Given the description of an element on the screen output the (x, y) to click on. 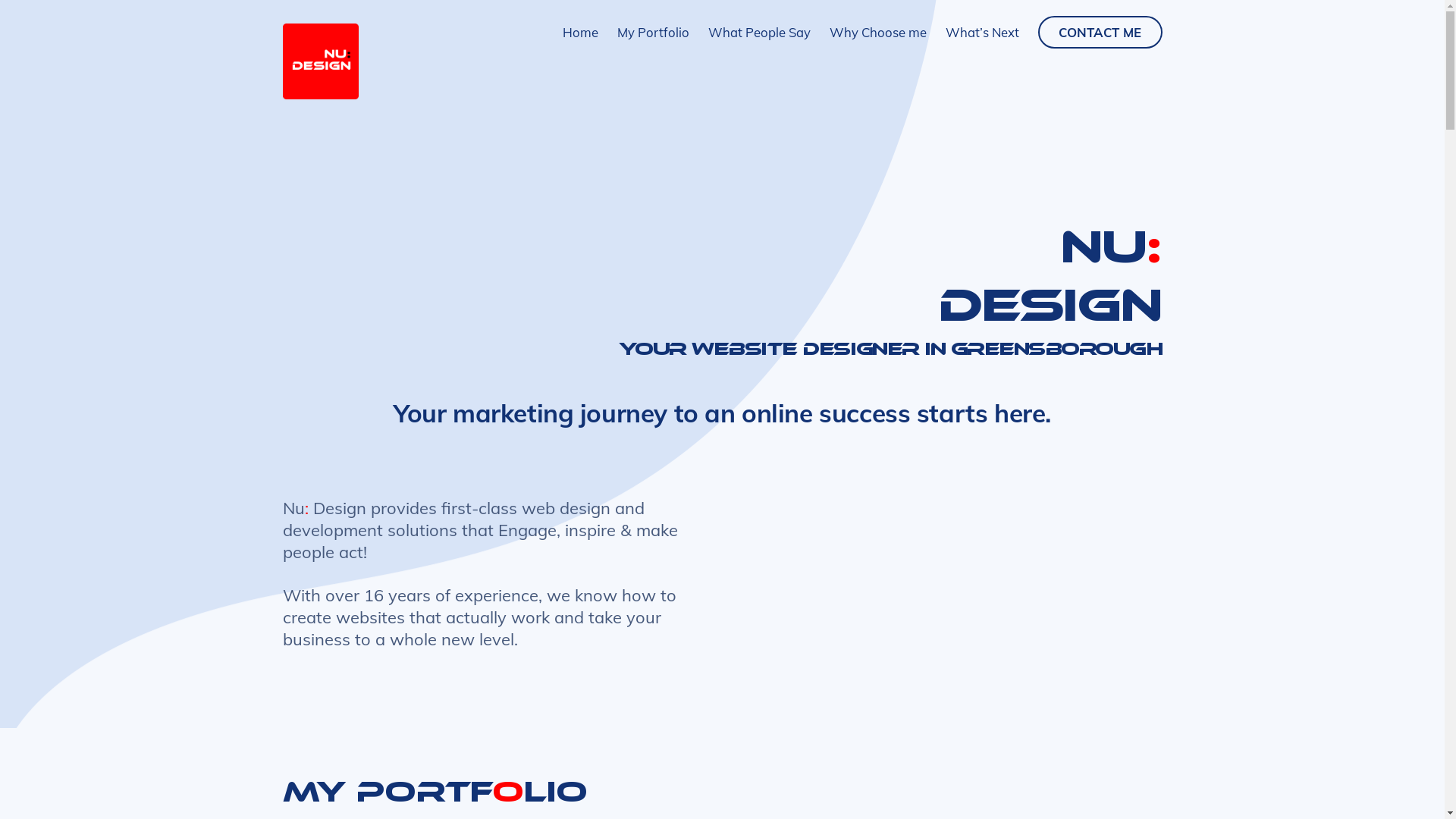
Why Choose me Element type: text (878, 31)
Nu Design (2) Element type: hover (319, 61)
What People Say Element type: text (759, 31)
CONTACT ME Element type: text (1099, 31)
My Portfolio Element type: text (652, 31)
Nu Design Element type: hover (319, 92)
Home Element type: text (580, 31)
